Given the description of an element on the screen output the (x, y) to click on. 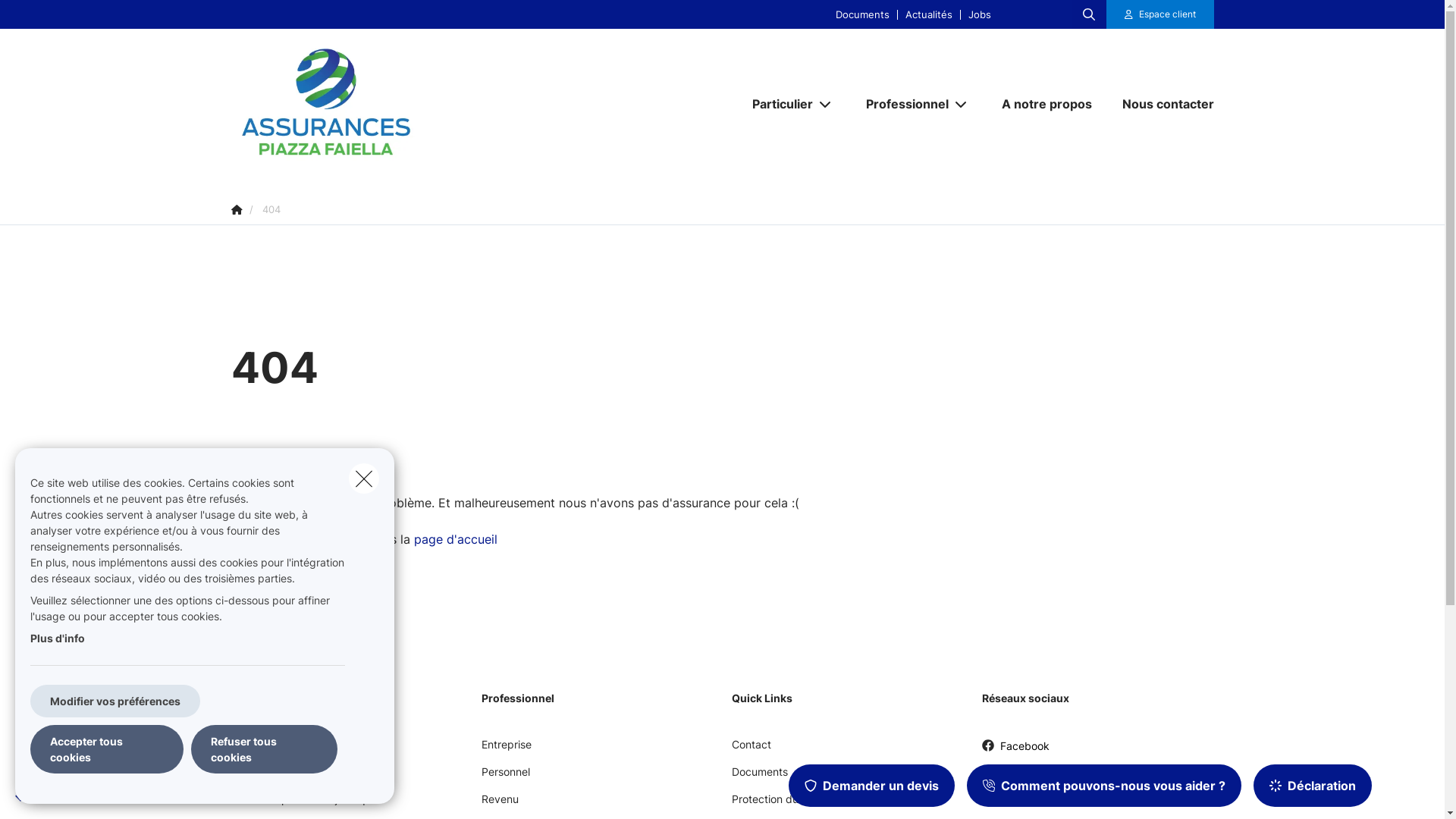
Espace client Element type: text (1167, 14)
Plus d'info Element type: text (57, 637)
Particulier Element type: text (776, 103)
Facebook Element type: text (1014, 750)
Revenu Element type: text (498, 804)
Accepter tous cookies Element type: text (106, 748)
Protection du client Element type: text (779, 804)
Comment pouvons-nous vous aider ? Element type: text (1103, 785)
Rechercher Element type: text (54, 18)
Jobs Element type: text (979, 13)
Personnel Element type: text (504, 776)
Entreprise Element type: text (505, 749)
Espace client Element type: text (1160, 14)
Documents Element type: text (862, 13)
Habitation Element type: text (255, 776)
Documents Element type: text (759, 776)
Contact Element type: text (750, 749)
page d'accueil Element type: text (455, 538)
Famille et protection juridique Element type: text (303, 804)
Nous contacter Element type: text (1160, 103)
A notre propos Element type: text (1045, 103)
Demander un devis Element type: text (871, 785)
Refuser tous cookies Element type: text (264, 748)
Professionnel Element type: text (901, 103)
